Given the description of an element on the screen output the (x, y) to click on. 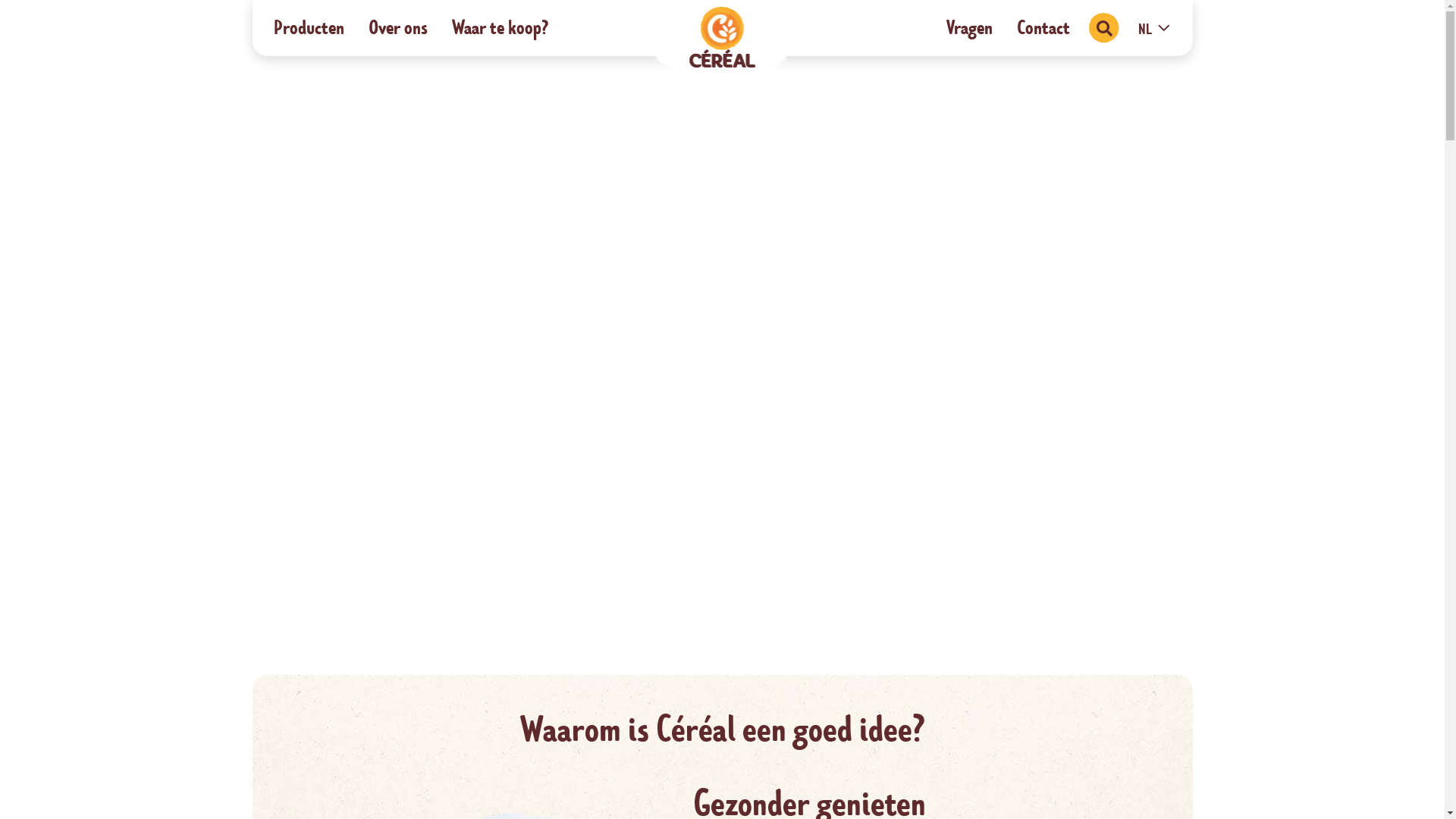
Contact Element type: text (1043, 27)
NL Element type: text (1154, 29)
Vragen Element type: text (969, 27)
Over ons Element type: text (397, 27)
Waar te koop? Element type: text (499, 27)
Producten Element type: text (307, 27)
